Given the description of an element on the screen output the (x, y) to click on. 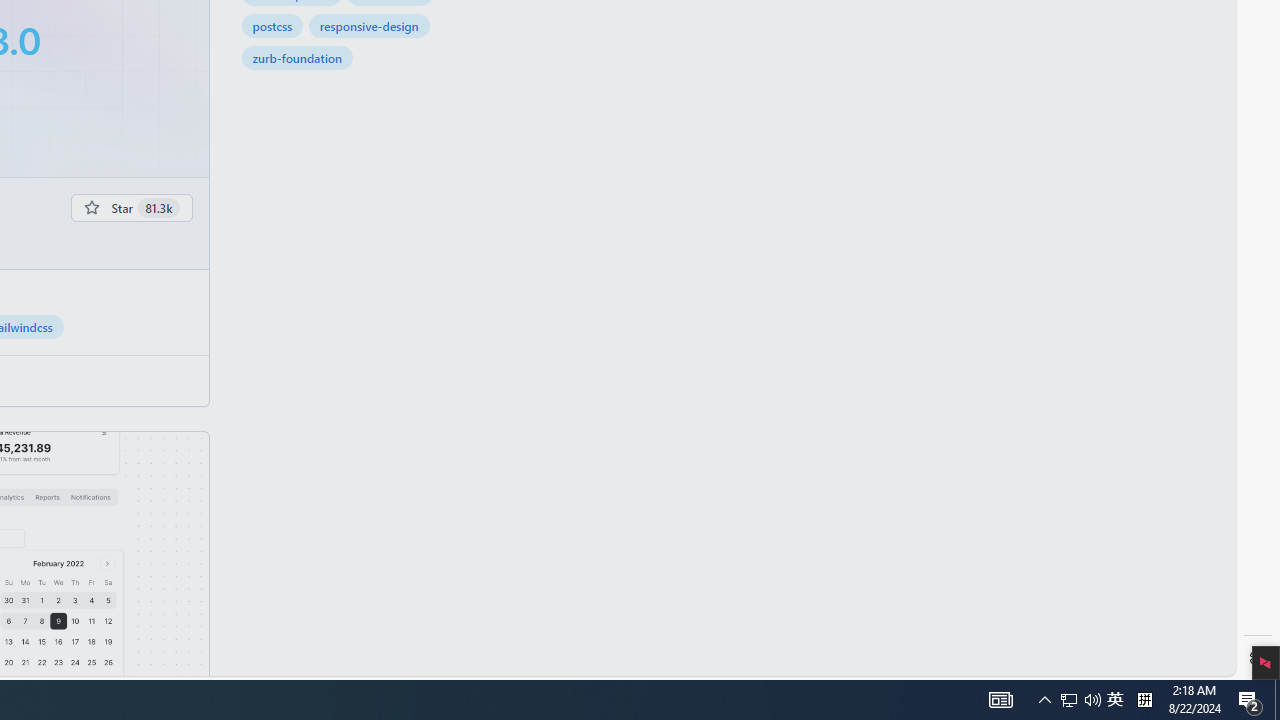
You must be signed in to star a repository (131, 207)
postcss (272, 25)
responsive-design (369, 25)
zurb-foundation (297, 57)
